Given the description of an element on the screen output the (x, y) to click on. 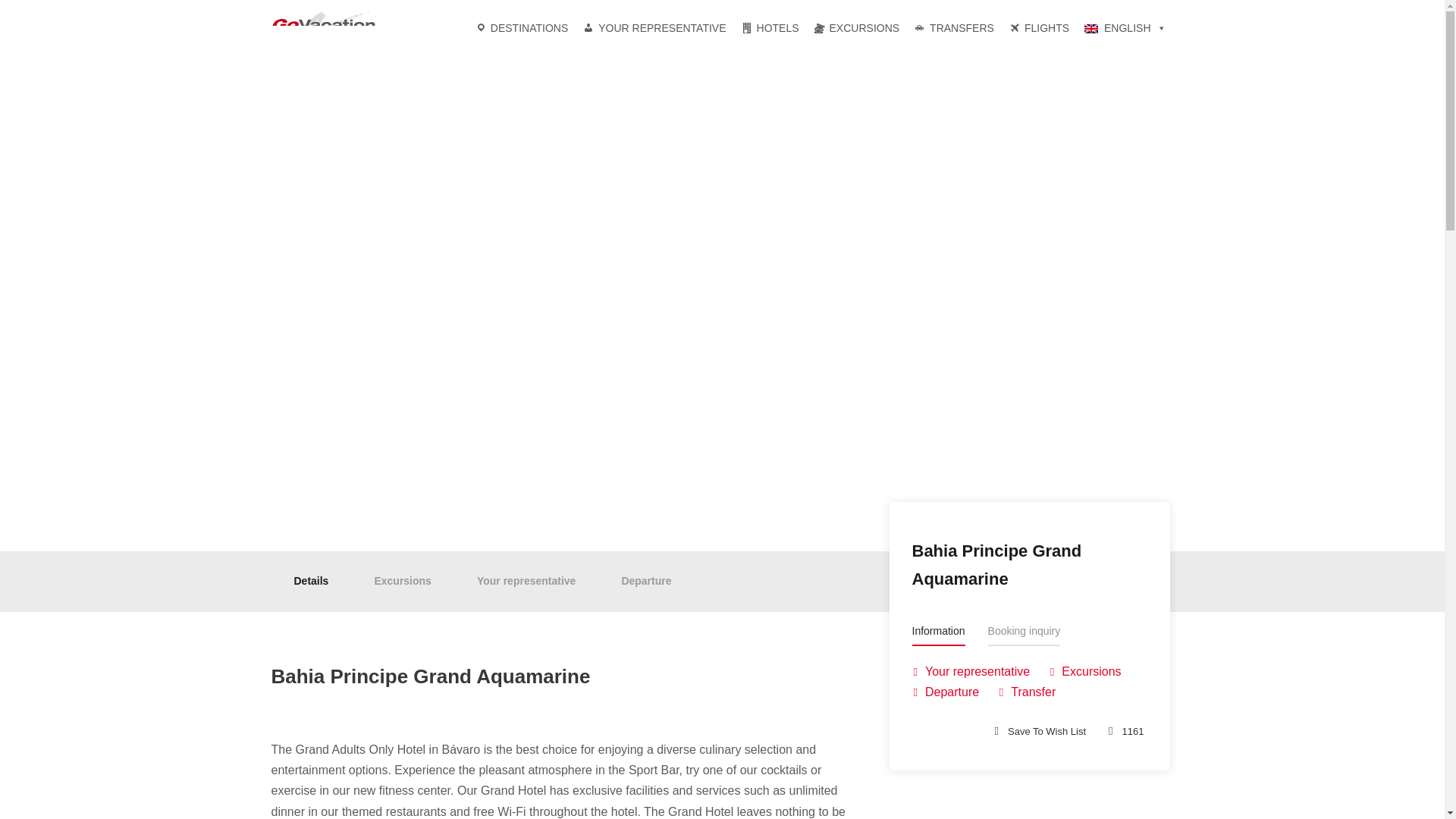
Your representative (526, 581)
Details (311, 581)
TRANSFERS (954, 28)
ENGLISH (1125, 28)
Transfer (1026, 691)
EXCURSIONS (856, 28)
English (1125, 28)
FLIGHTS (1039, 28)
Departure (646, 581)
Excursions (402, 581)
HOTELS (769, 28)
Departure (945, 691)
DESTINATIONS (521, 28)
Excursions (1085, 671)
GoVacation Dominican Republic (334, 28)
